Given the description of an element on the screen output the (x, y) to click on. 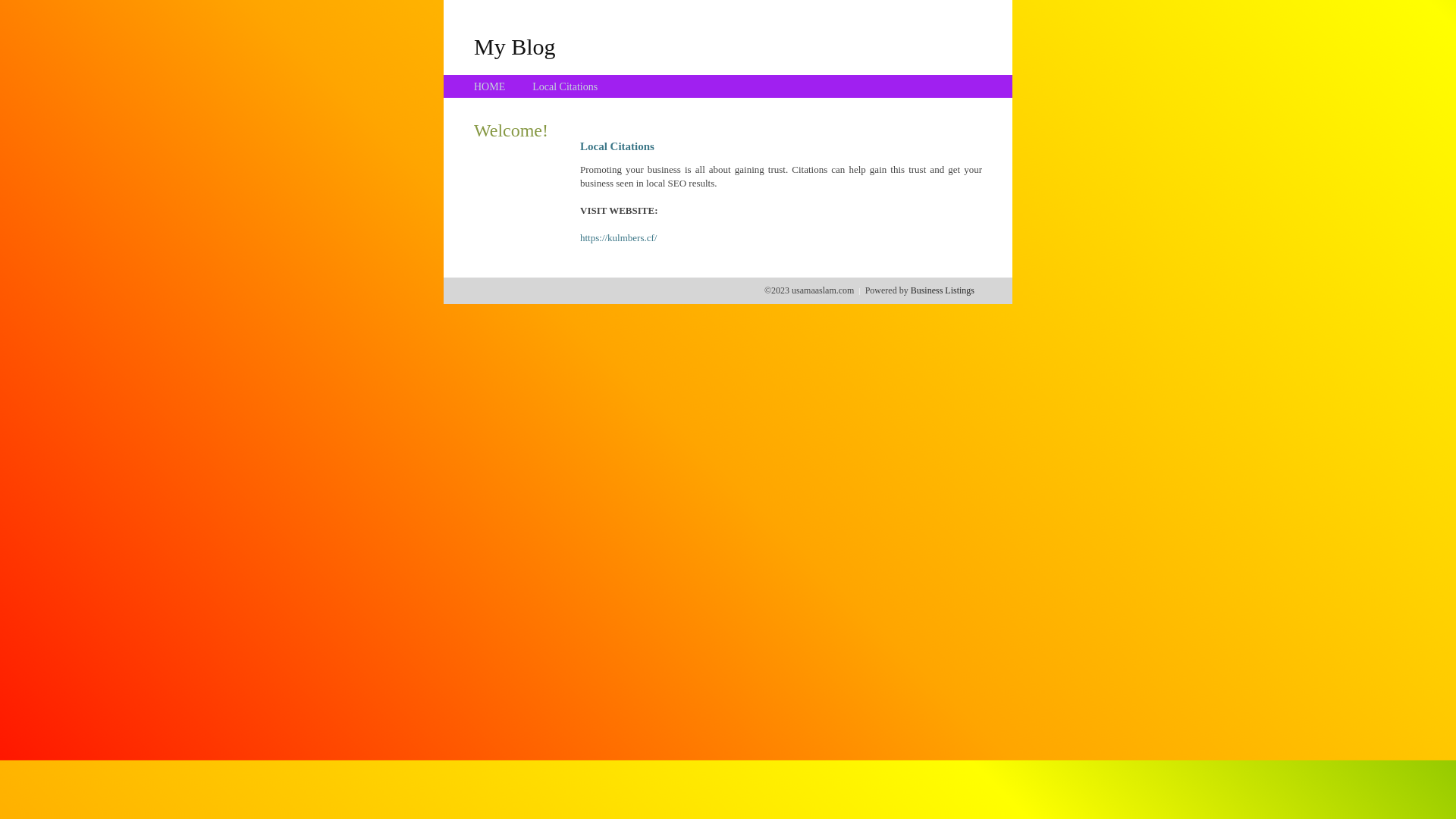
My Blog Element type: text (514, 46)
Business Listings Element type: text (942, 290)
Local Citations Element type: text (564, 86)
https://kulmbers.cf/ Element type: text (618, 237)
HOME Element type: text (489, 86)
